Given the description of an element on the screen output the (x, y) to click on. 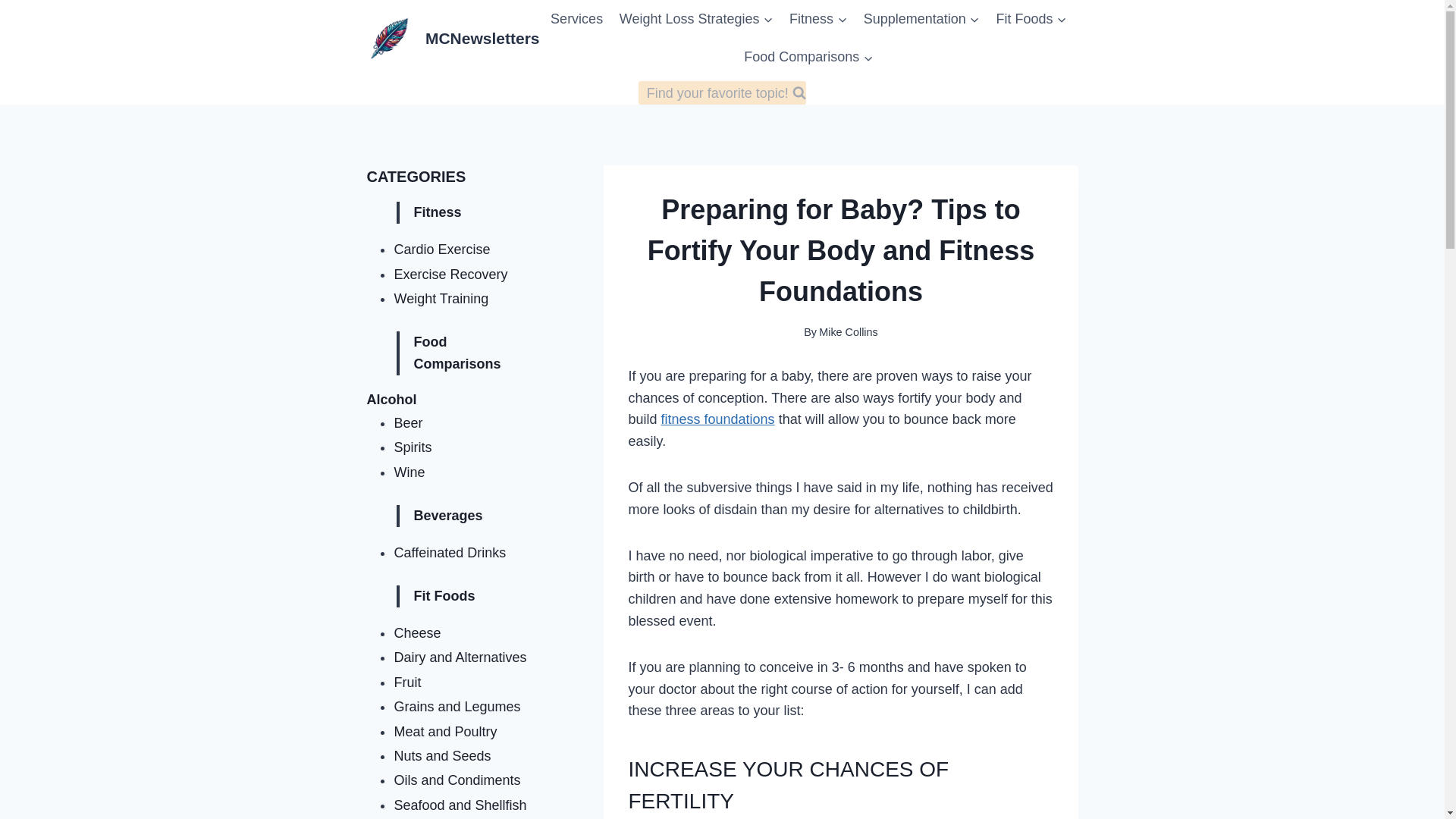
Fitness (818, 18)
Fit Foods (1031, 18)
Food Comparisons (807, 56)
Weight Loss Strategies (695, 18)
Supplementation (922, 18)
Services (576, 18)
MCNewsletters (453, 37)
